Given the description of an element on the screen output the (x, y) to click on. 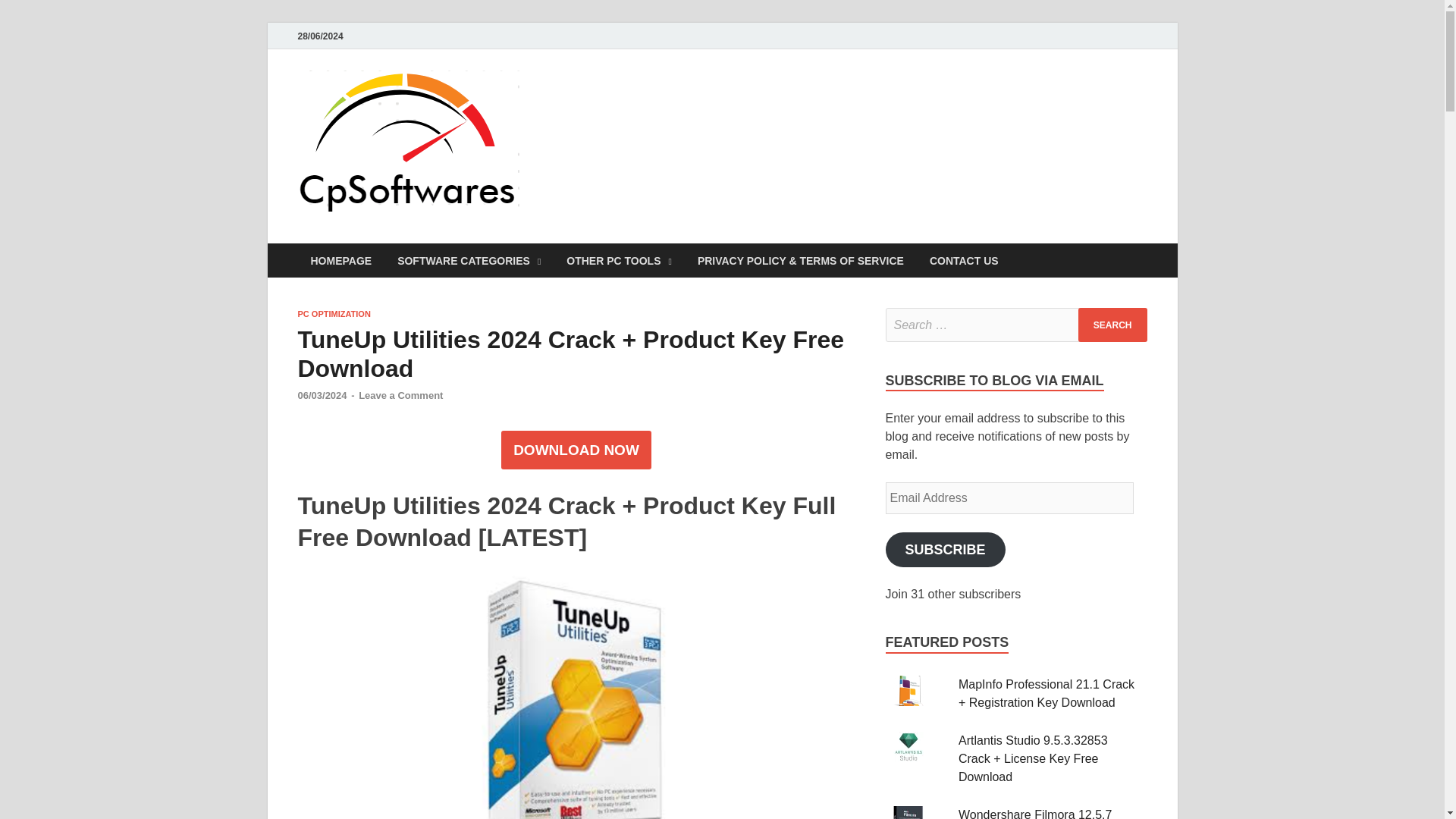
CONTACT US (964, 260)
Search (1112, 324)
SOFTWARE CATEGORIES (468, 260)
Crack Pc Software (650, 100)
HOMEPAGE (340, 260)
Search (1112, 324)
OTHER PC TOOLS (618, 260)
